Given the description of an element on the screen output the (x, y) to click on. 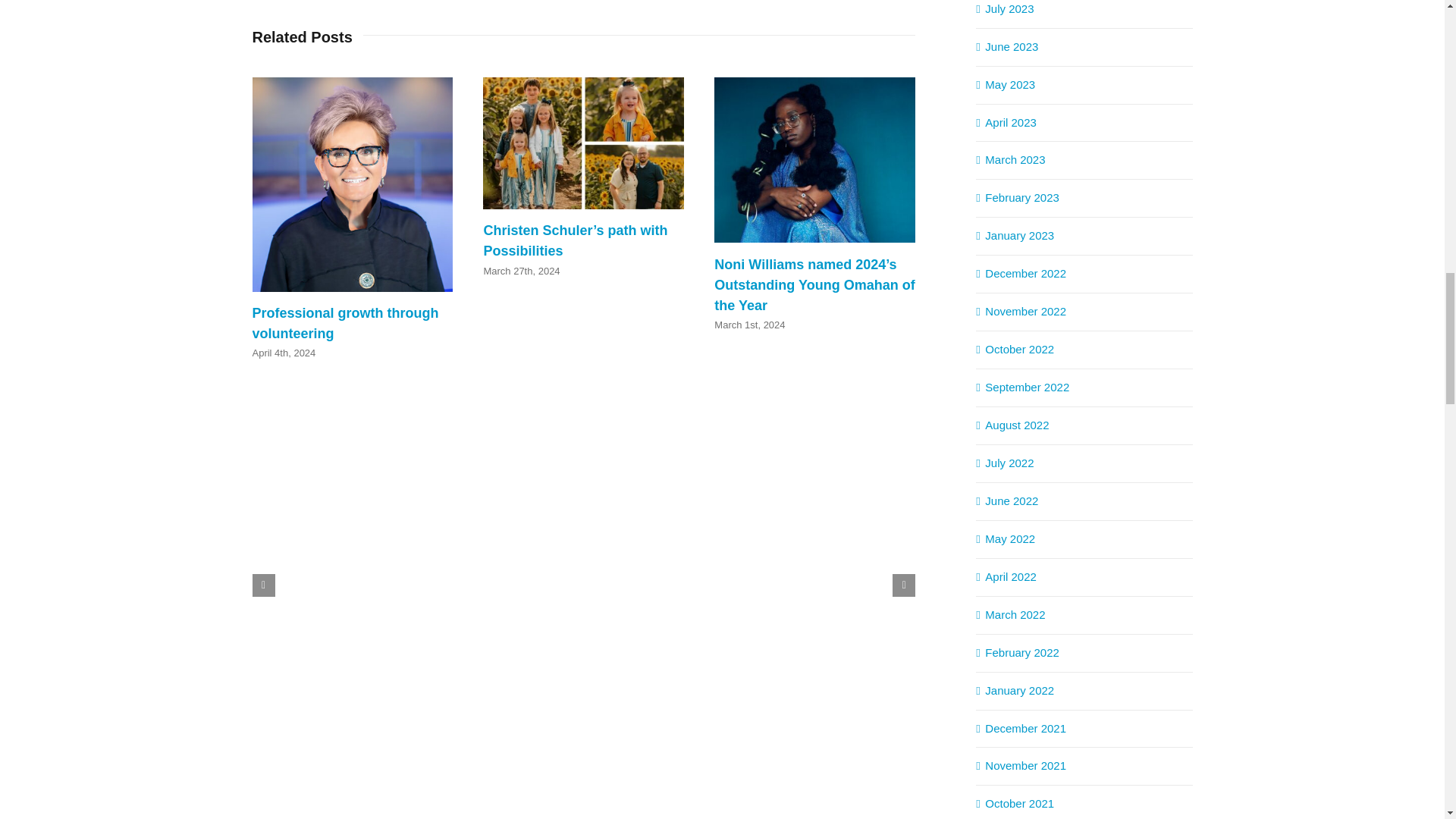
Professional growth through volunteering (344, 323)
